Given the description of an element on the screen output the (x, y) to click on. 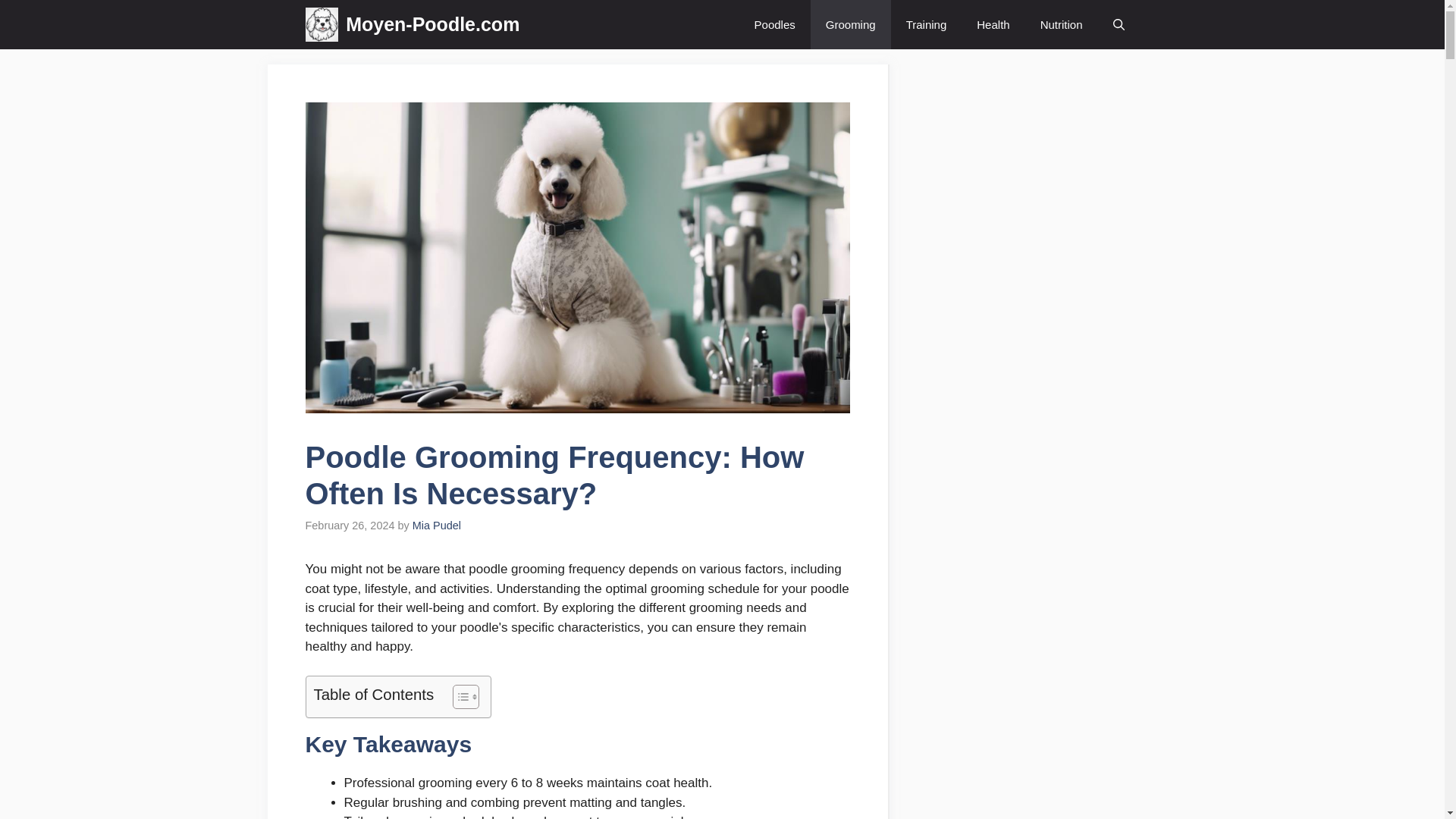
View all posts by Mia Pudel (436, 525)
Mia Pudel (436, 525)
Grooming (850, 24)
Poodles (774, 24)
Health (992, 24)
Moyen-Poodle.com (432, 24)
Nutrition (1061, 24)
Training (926, 24)
